Given the description of an element on the screen output the (x, y) to click on. 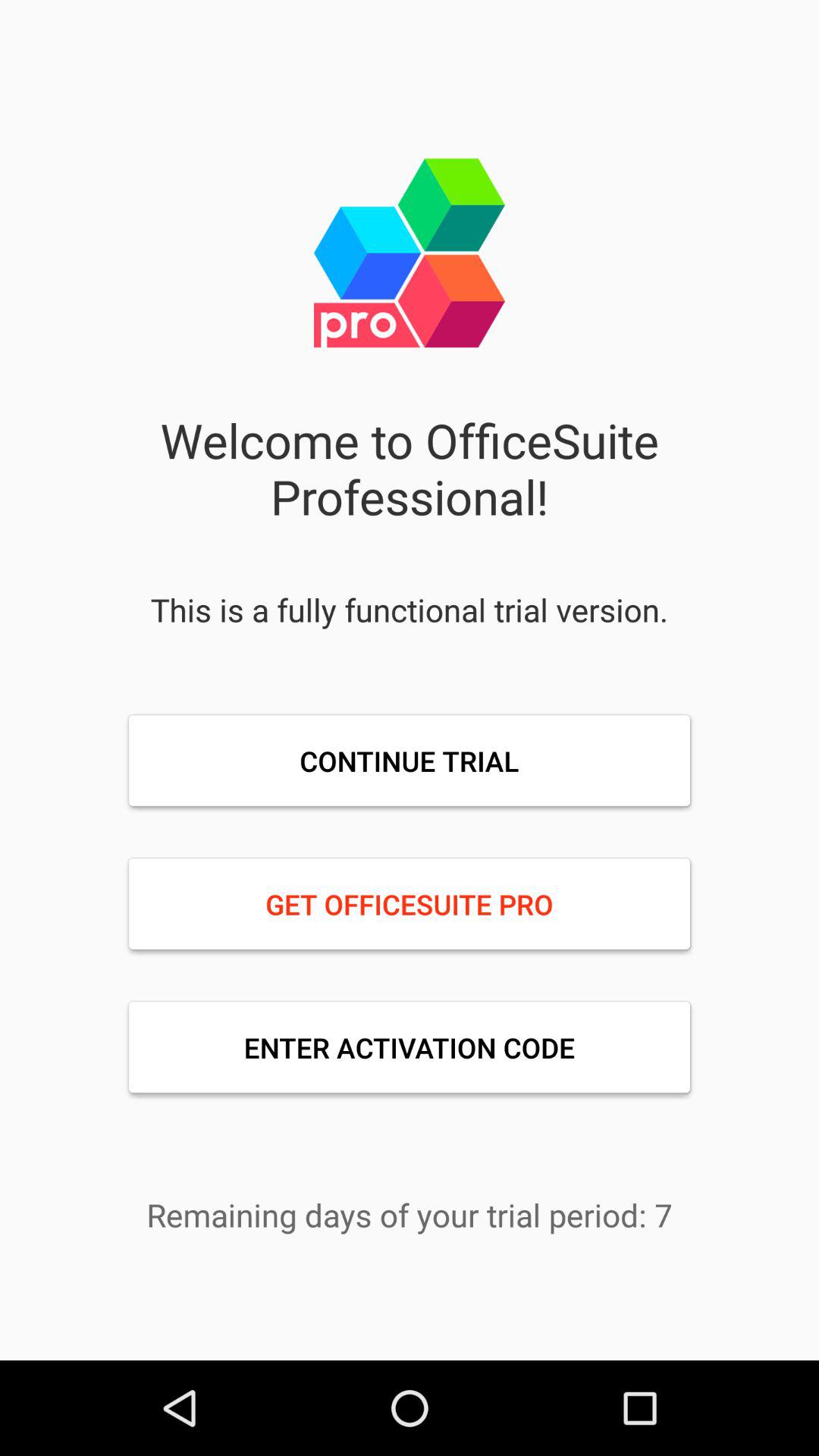
choose icon above enter activation code icon (409, 904)
